Given the description of an element on the screen output the (x, y) to click on. 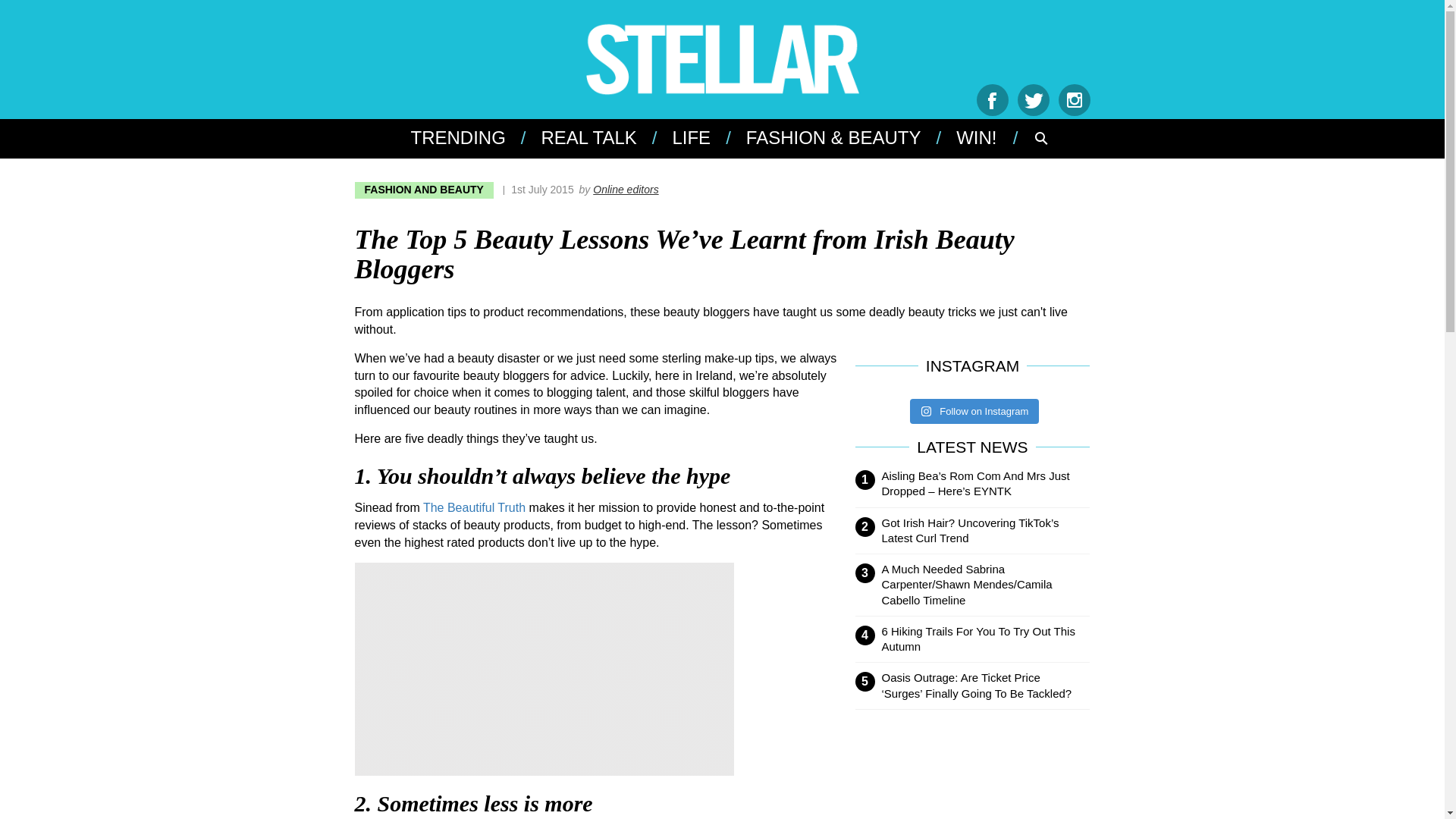
REAL TALK (586, 137)
WIN! (973, 137)
TRENDING (464, 137)
Trending (464, 137)
The Beautiful Truth (474, 507)
LIFE (688, 137)
Follow on Instagram (974, 411)
Real Talk (586, 137)
Life (688, 137)
Online editors (625, 189)
